Given the description of an element on the screen output the (x, y) to click on. 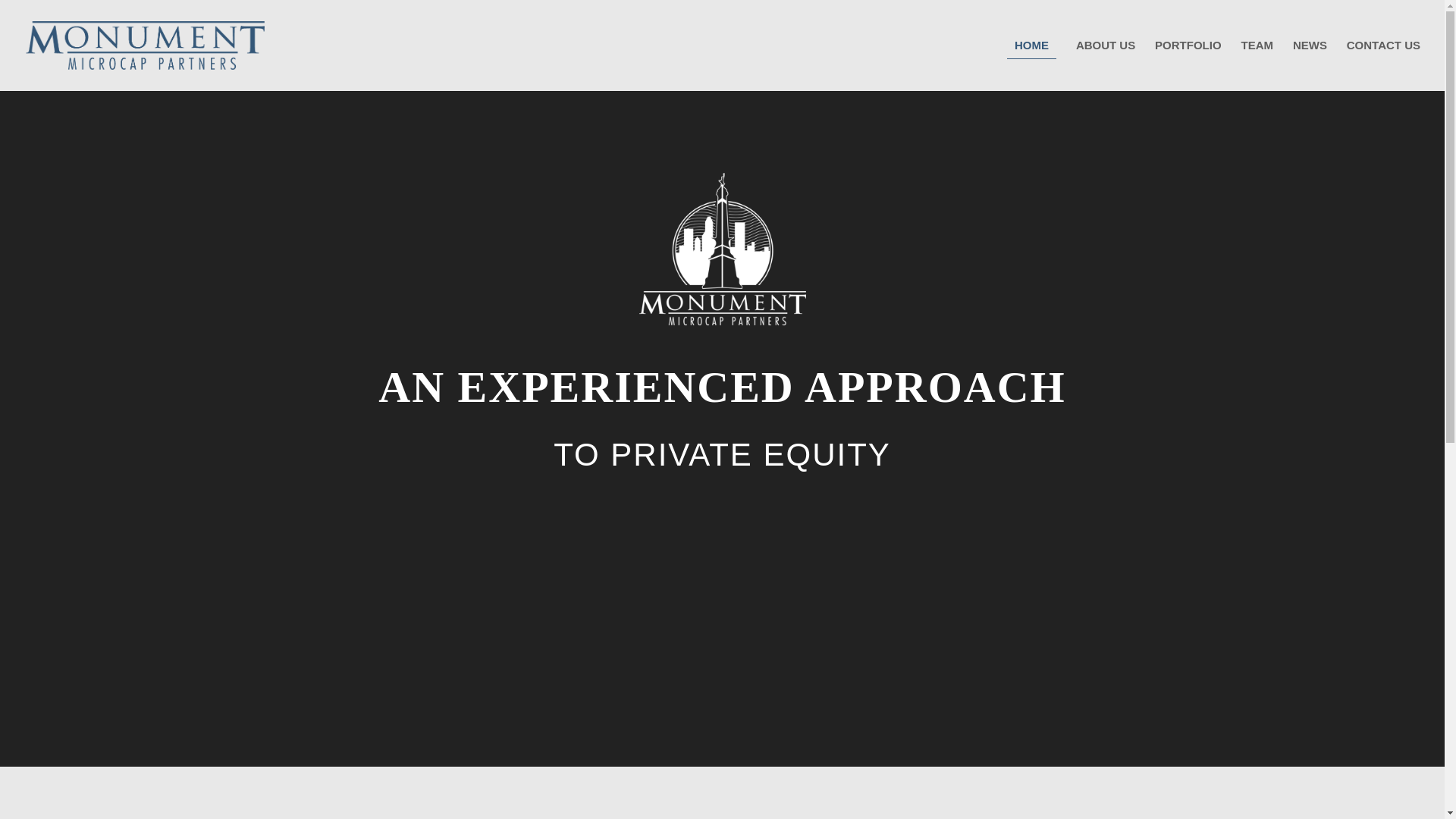
ABOUT US (1105, 65)
TEAM (1256, 65)
PORTFOLIO (1187, 65)
CONTACT US (1383, 65)
HOME (1032, 49)
NEWS (1309, 65)
newLogoWhite (722, 248)
